Given the description of an element on the screen output the (x, y) to click on. 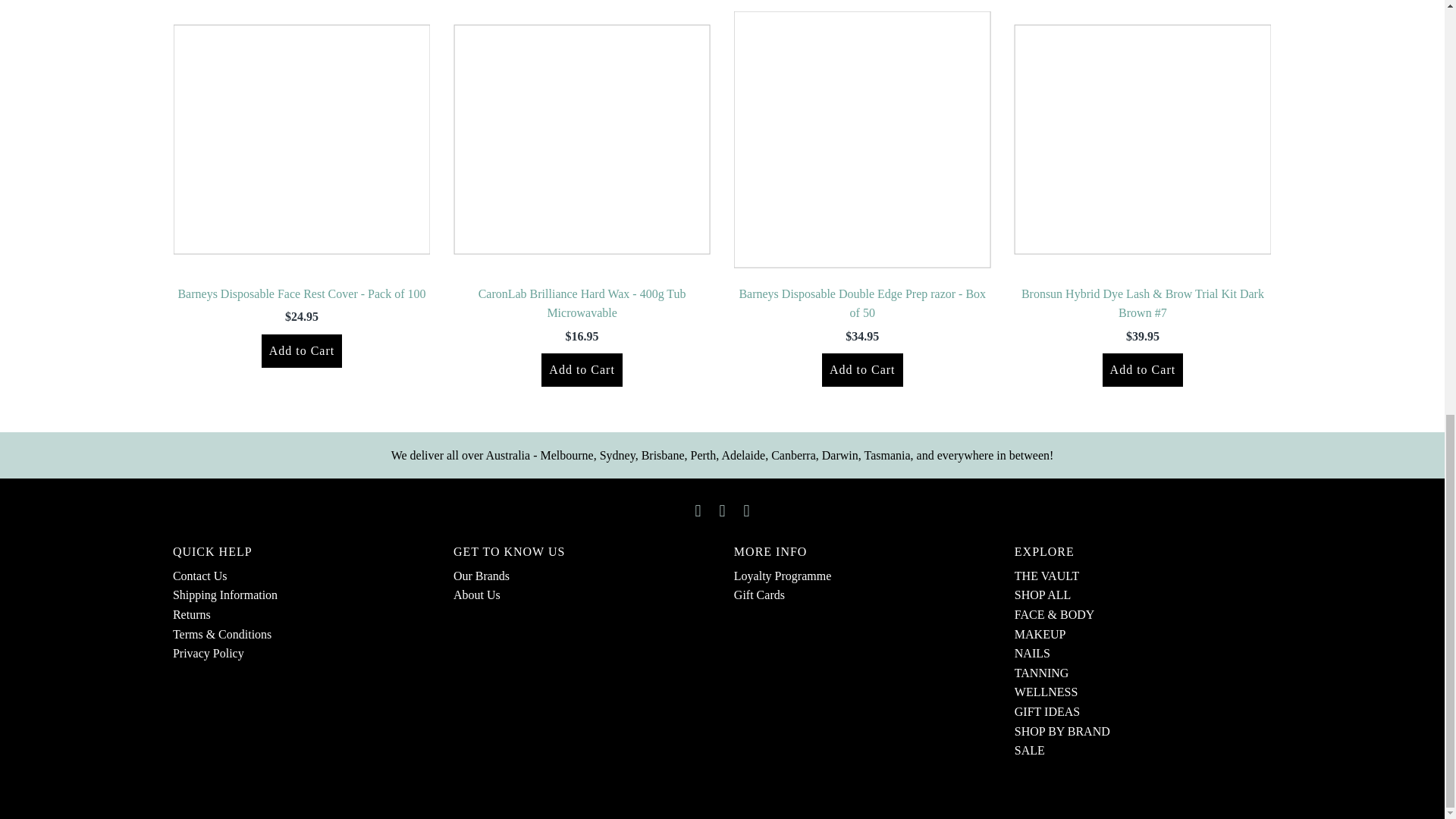
Add to Cart (862, 369)
Add to Cart (1142, 369)
Add to Cart (302, 350)
Add to Cart (582, 369)
